Given the description of an element on the screen output the (x, y) to click on. 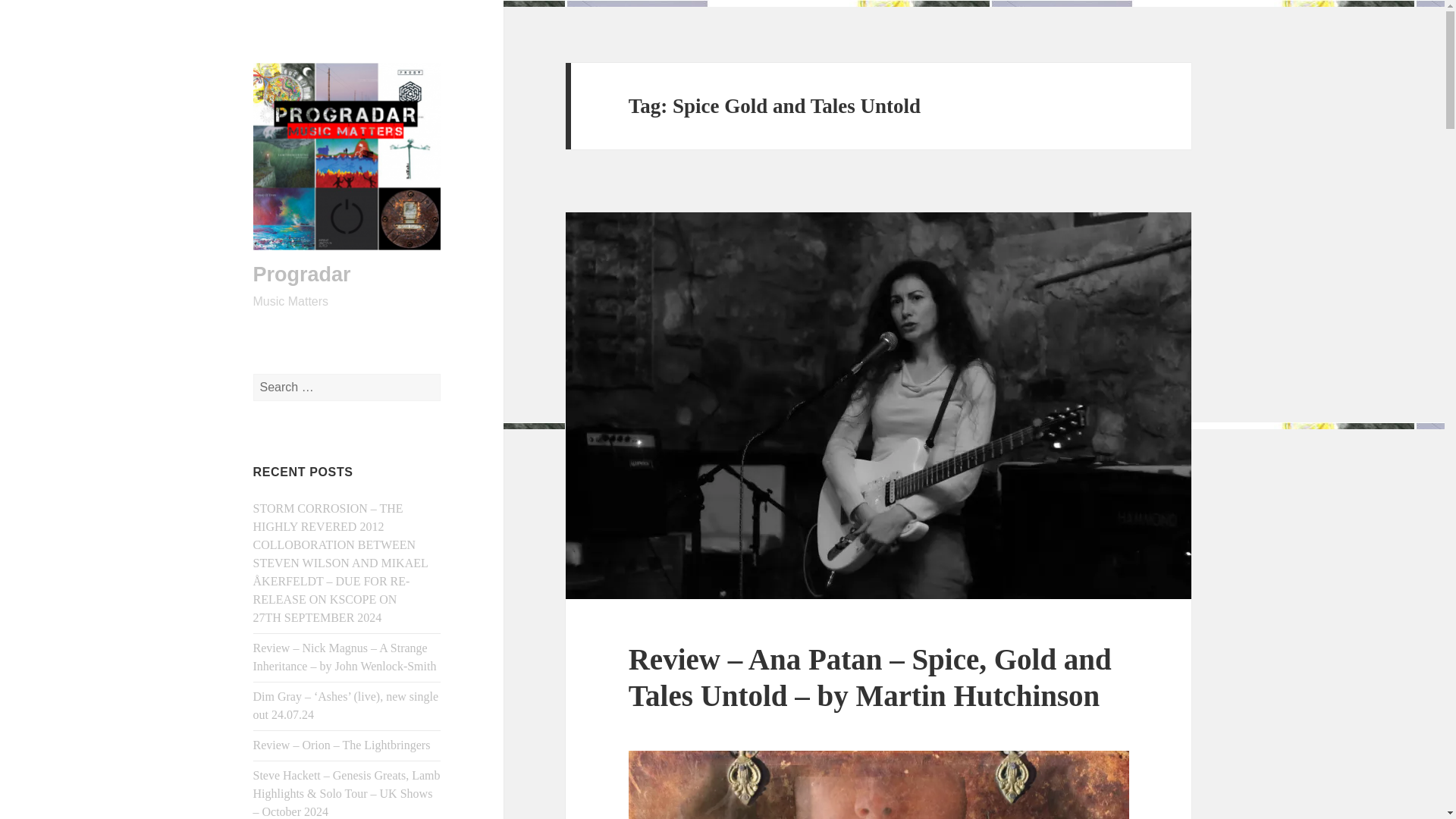
Progradar (301, 273)
